Given the description of an element on the screen output the (x, y) to click on. 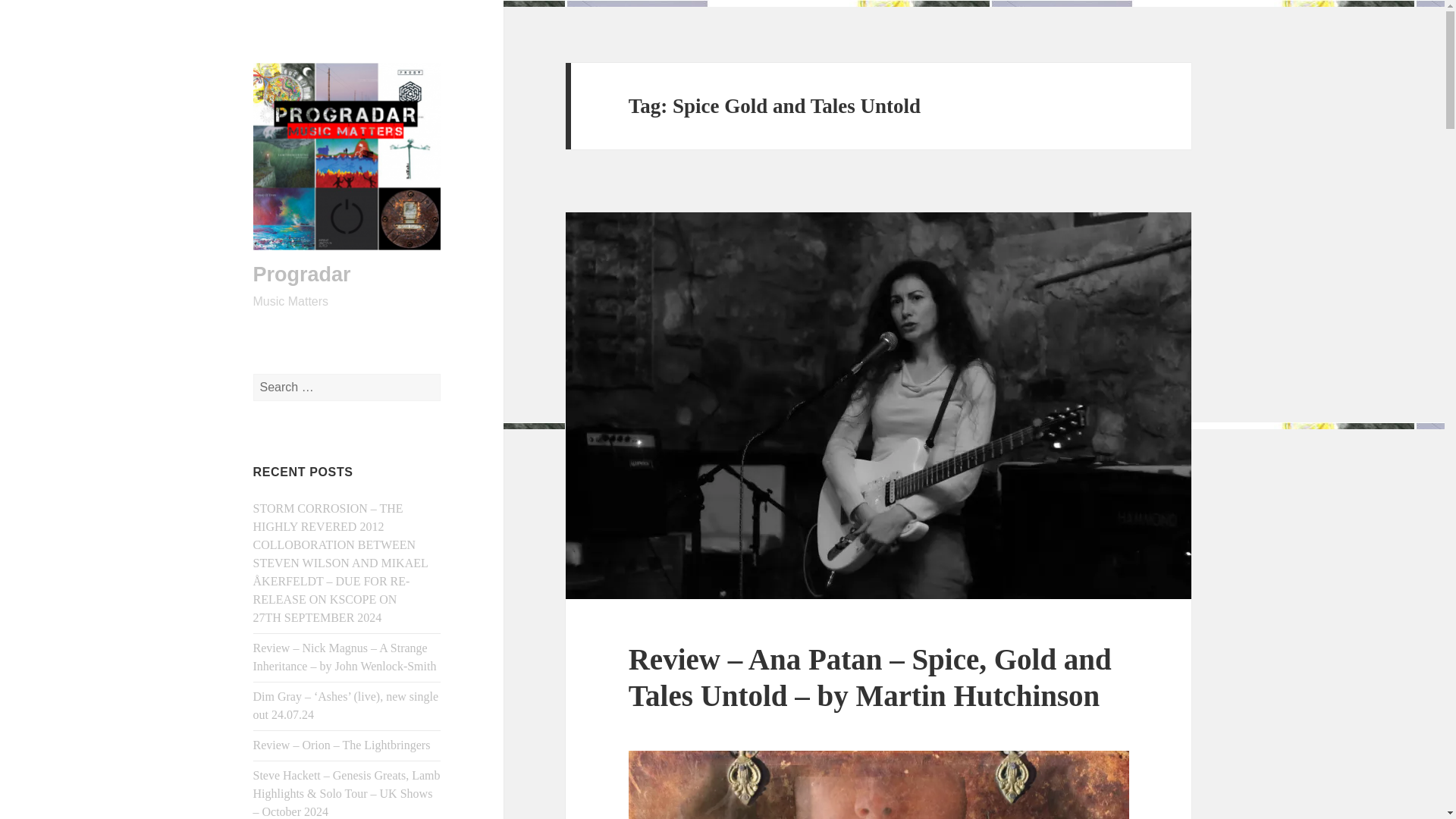
Progradar (301, 273)
